Given the description of an element on the screen output the (x, y) to click on. 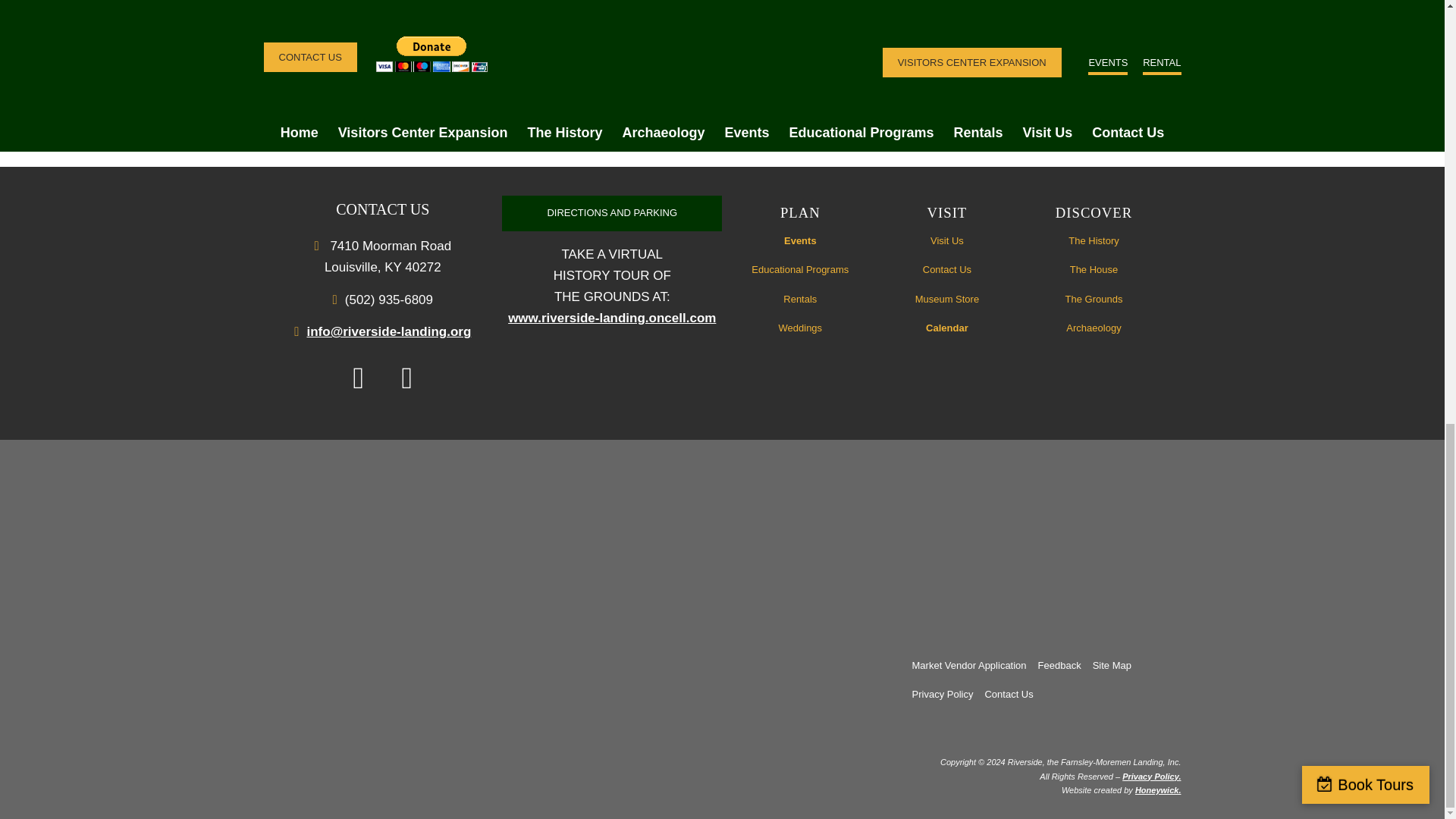
Kid Friendly (416, 36)
Trip Advisor (538, 539)
Events (800, 240)
Visit Us (946, 240)
Instagram (406, 378)
Archaeology (353, 36)
Weddings (800, 328)
DIRECTIONS AND PARKING (612, 212)
www.riverside-landing.oncell.com (612, 318)
